Given the description of an element on the screen output the (x, y) to click on. 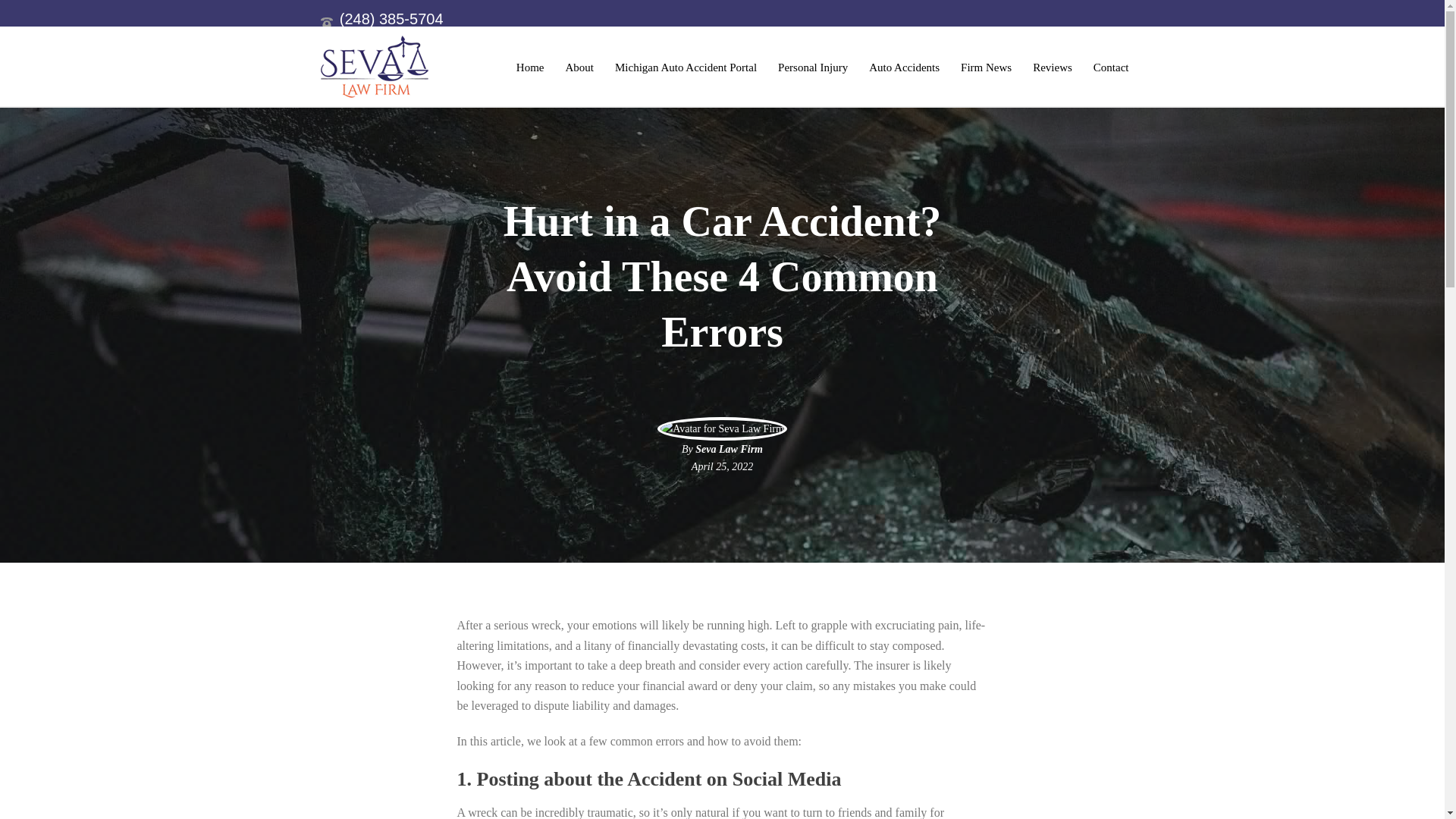
Gravatar for Seva Law Firm (722, 428)
Michigan Auto Accident Portal (685, 67)
Contact (1111, 67)
Auto Accidents (904, 67)
Michigan Auto Accident Portal (685, 67)
Home (529, 67)
Personal Injury (813, 67)
Auto Accidents (904, 67)
Reviews (1052, 67)
Personal Injury (813, 67)
